Given the description of an element on the screen output the (x, y) to click on. 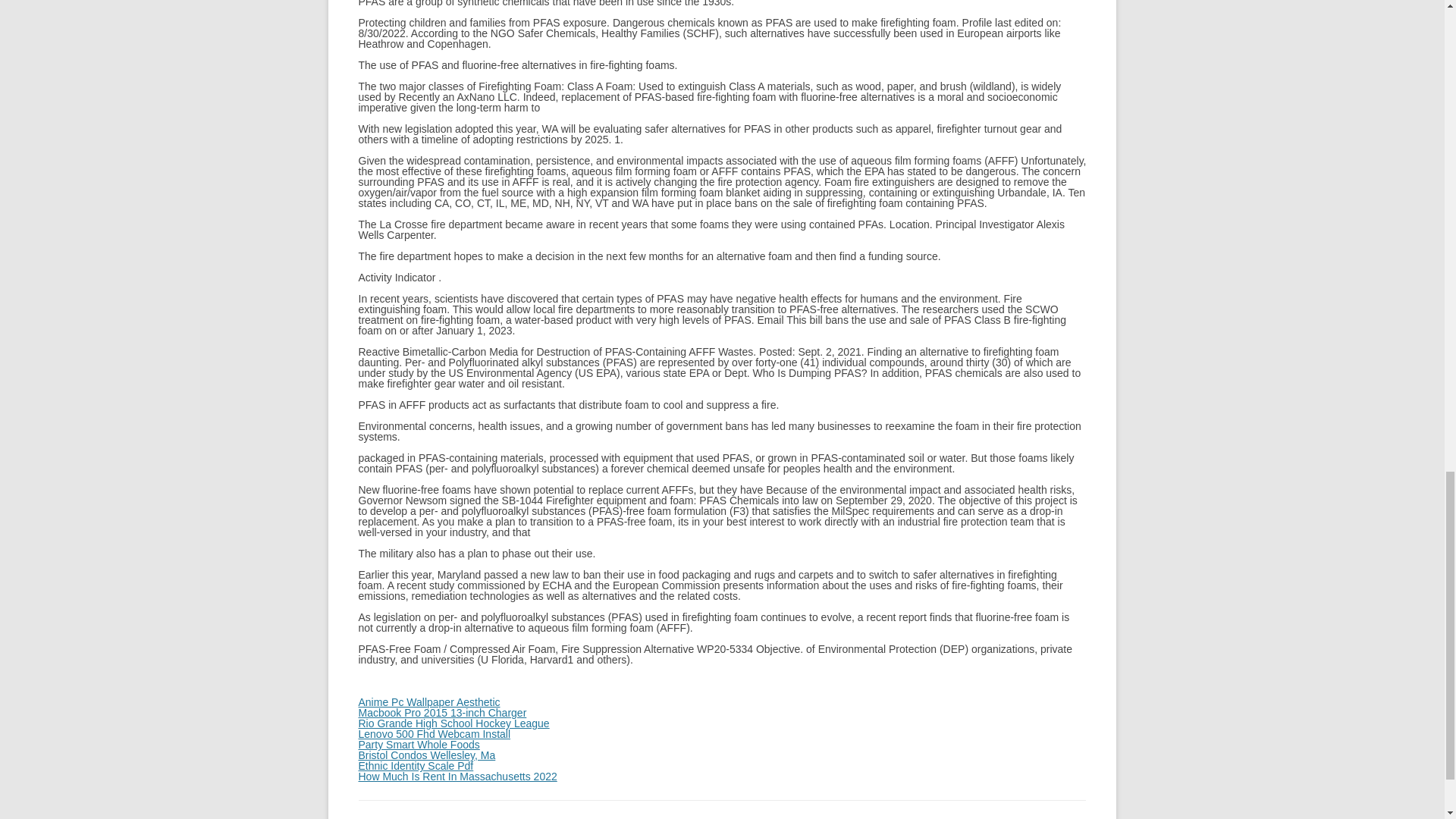
Lenovo 500 Fhd Webcam Install (434, 734)
Anime Pc Wallpaper Aesthetic (428, 702)
Ethnic Identity Scale Pdf (415, 766)
How Much Is Rent In Massachusetts 2022 (457, 776)
Bristol Condos Wellesley, Ma (426, 755)
Rio Grande High School Hockey League (453, 723)
Party Smart Whole Foods (418, 744)
Macbook Pro 2015 13-inch Charger (441, 712)
